Given the description of an element on the screen output the (x, y) to click on. 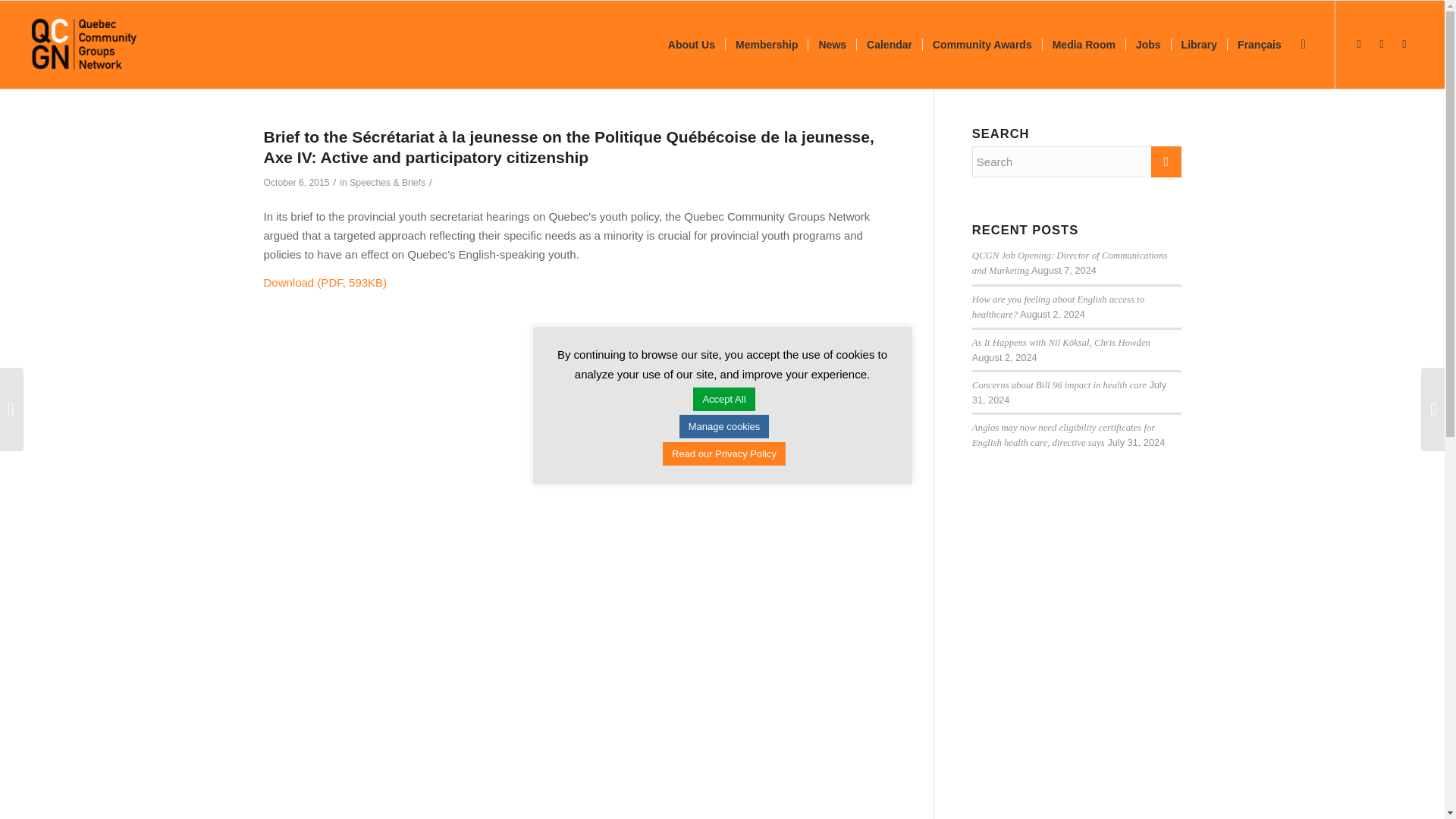
Membership (766, 44)
Media Room (1083, 44)
Youtube (1404, 43)
qcgn-pan-trans-white (84, 44)
Twitter (1381, 43)
Facebook (1359, 43)
Community Awards (981, 44)
